Given the description of an element on the screen output the (x, y) to click on. 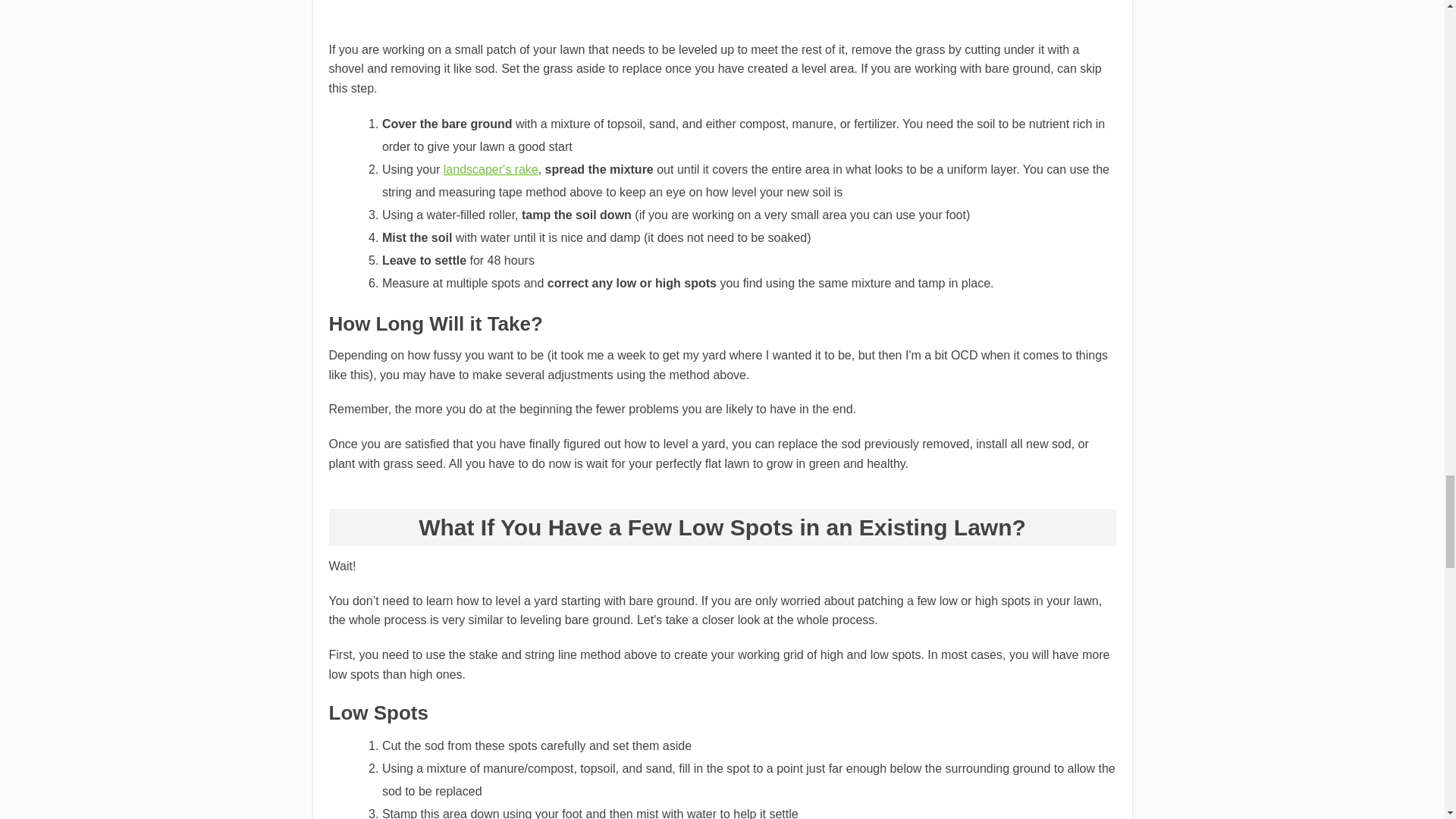
landscaper's rake (491, 169)
